Given the description of an element on the screen output the (x, y) to click on. 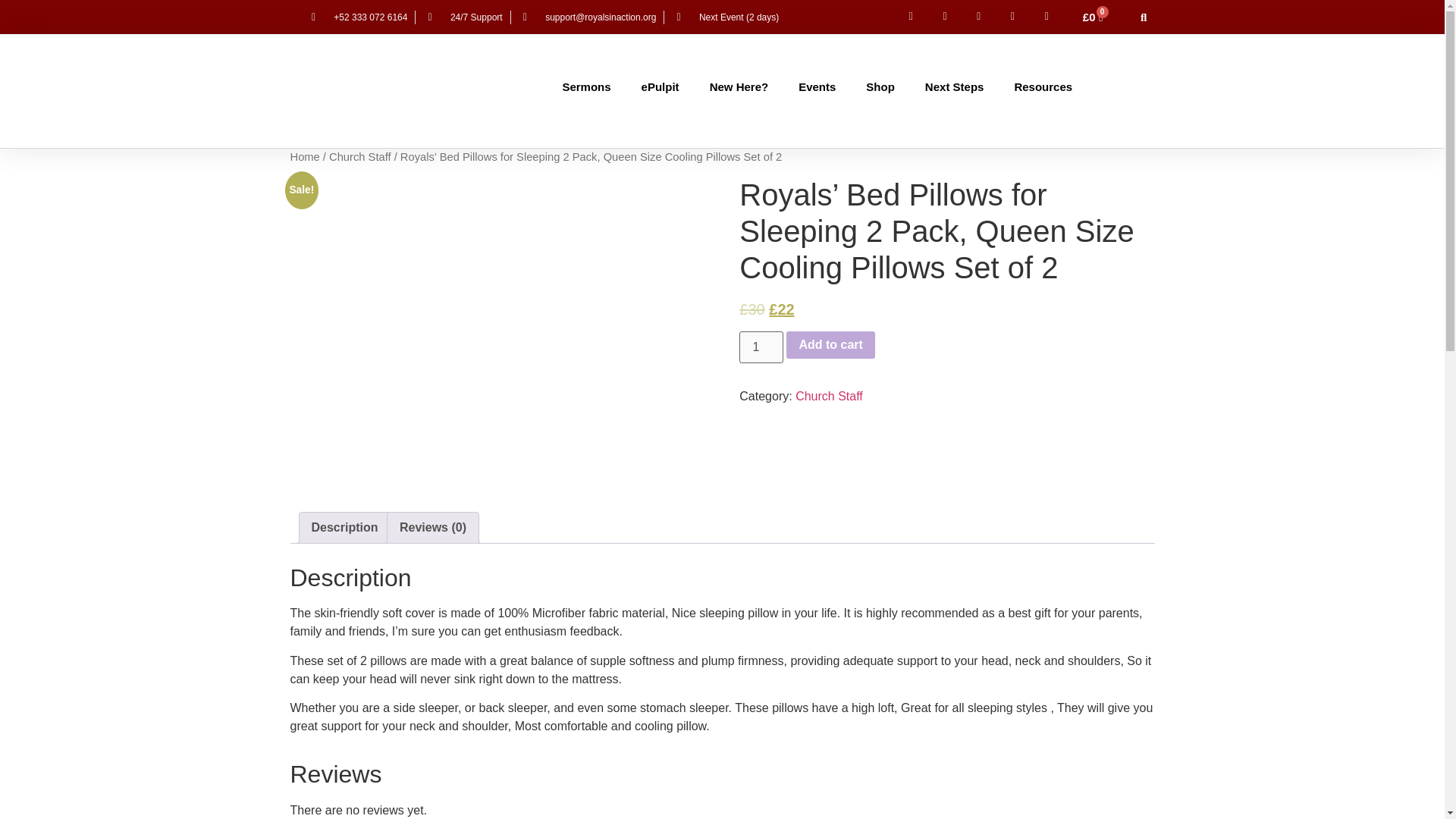
Shop (880, 86)
Next Steps (954, 86)
Sermons (586, 86)
ePulpit (660, 86)
Events (816, 86)
1 (761, 347)
Resources (1042, 86)
New Here? (739, 86)
